Given the description of an element on the screen output the (x, y) to click on. 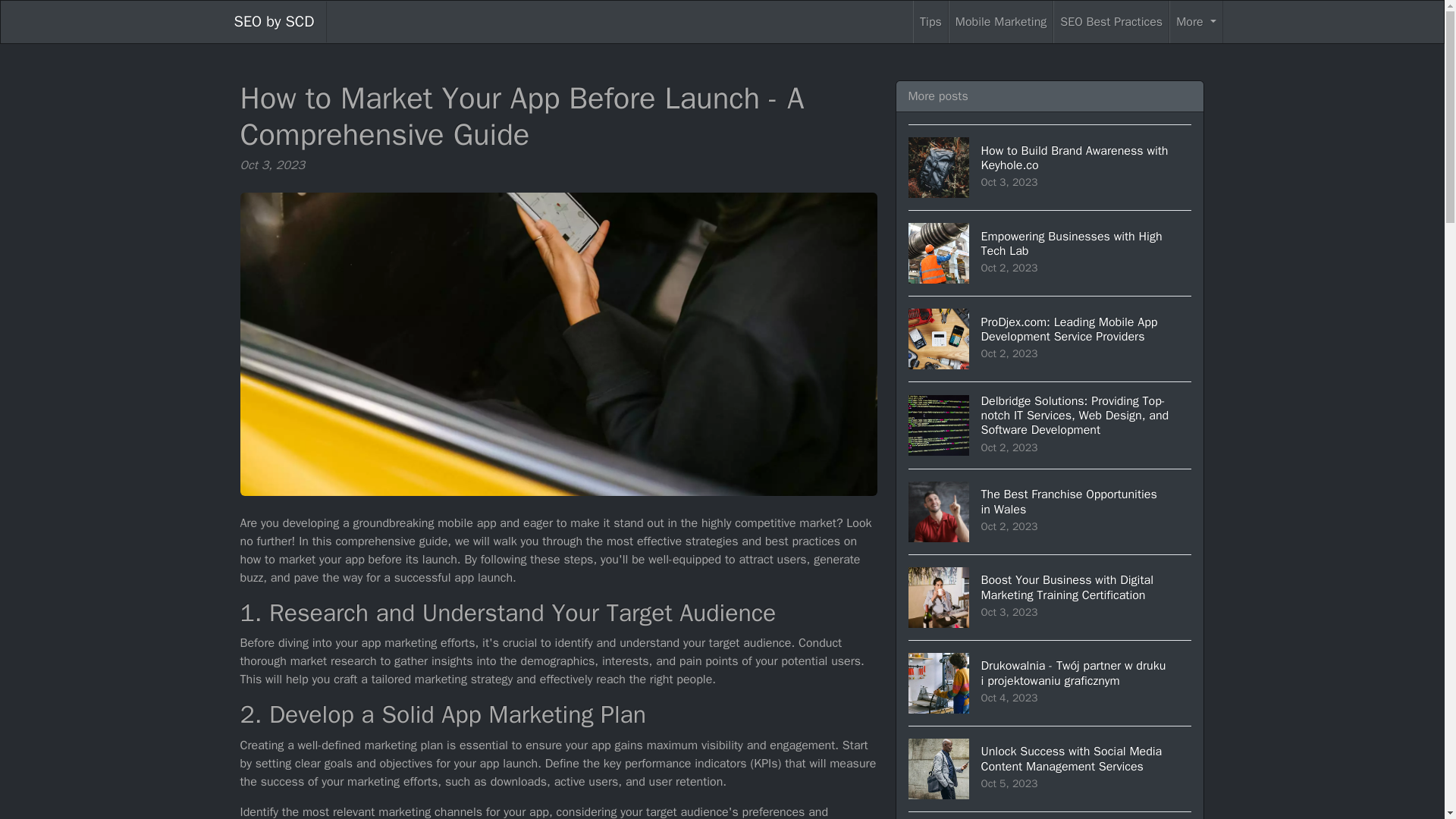
More (1196, 21)
SEO by SCD (1050, 166)
SEO Best Practices (1050, 511)
Mobile Marketing (273, 21)
